Given the description of an element on the screen output the (x, y) to click on. 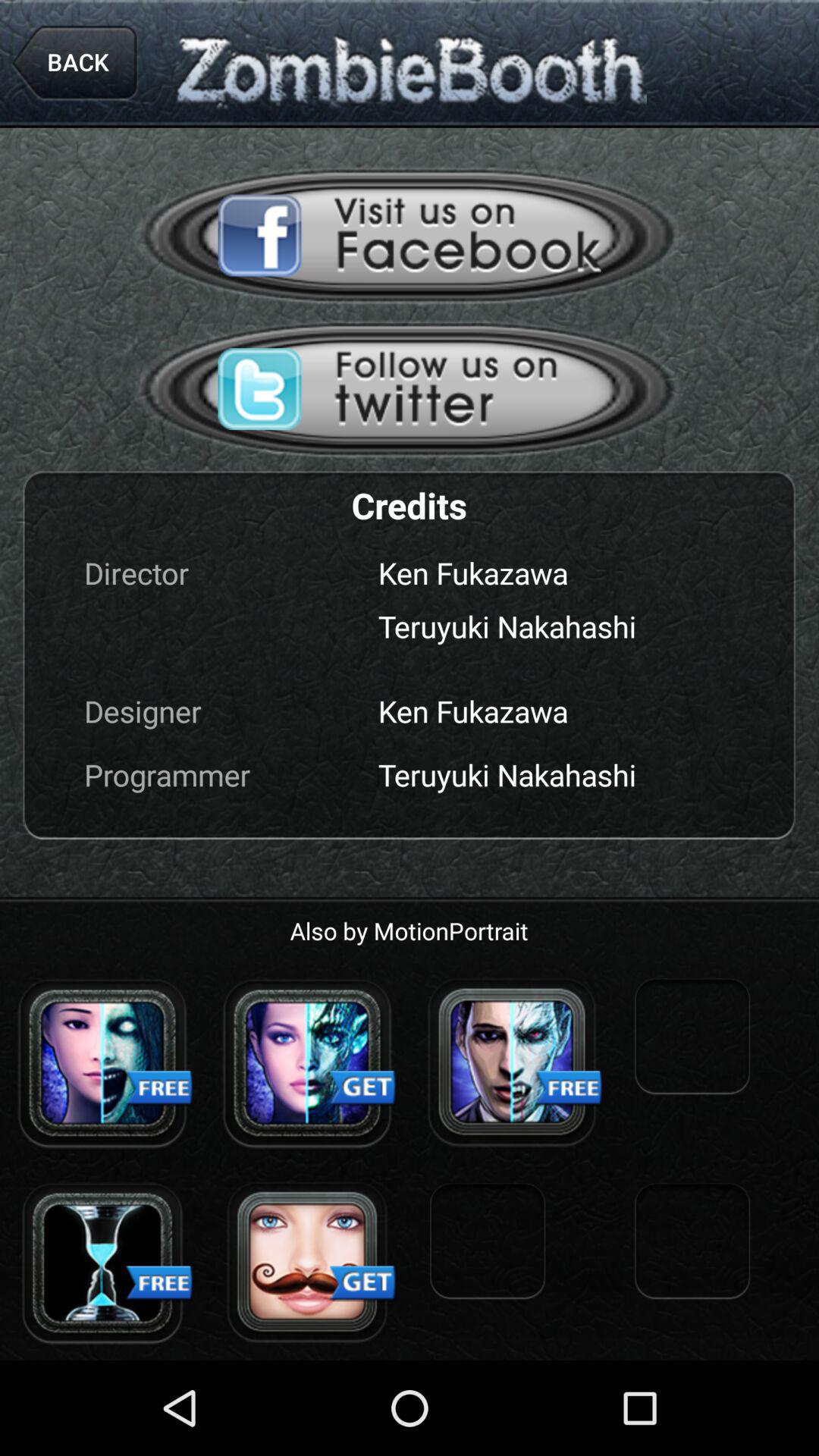
other zombie booth lenses (511, 1062)
